Given the description of an element on the screen output the (x, y) to click on. 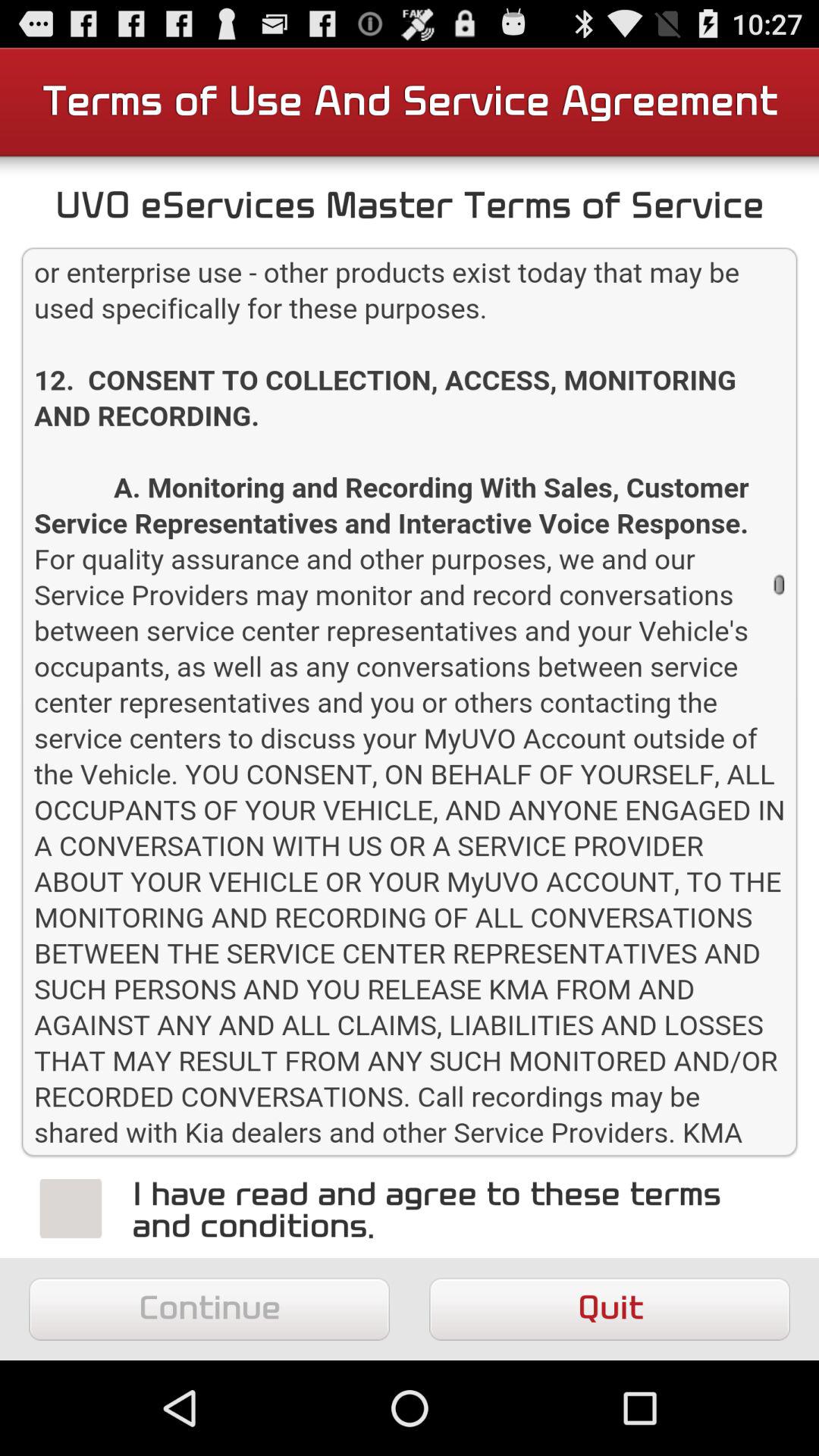
see the terms (409, 701)
